Given the description of an element on the screen output the (x, y) to click on. 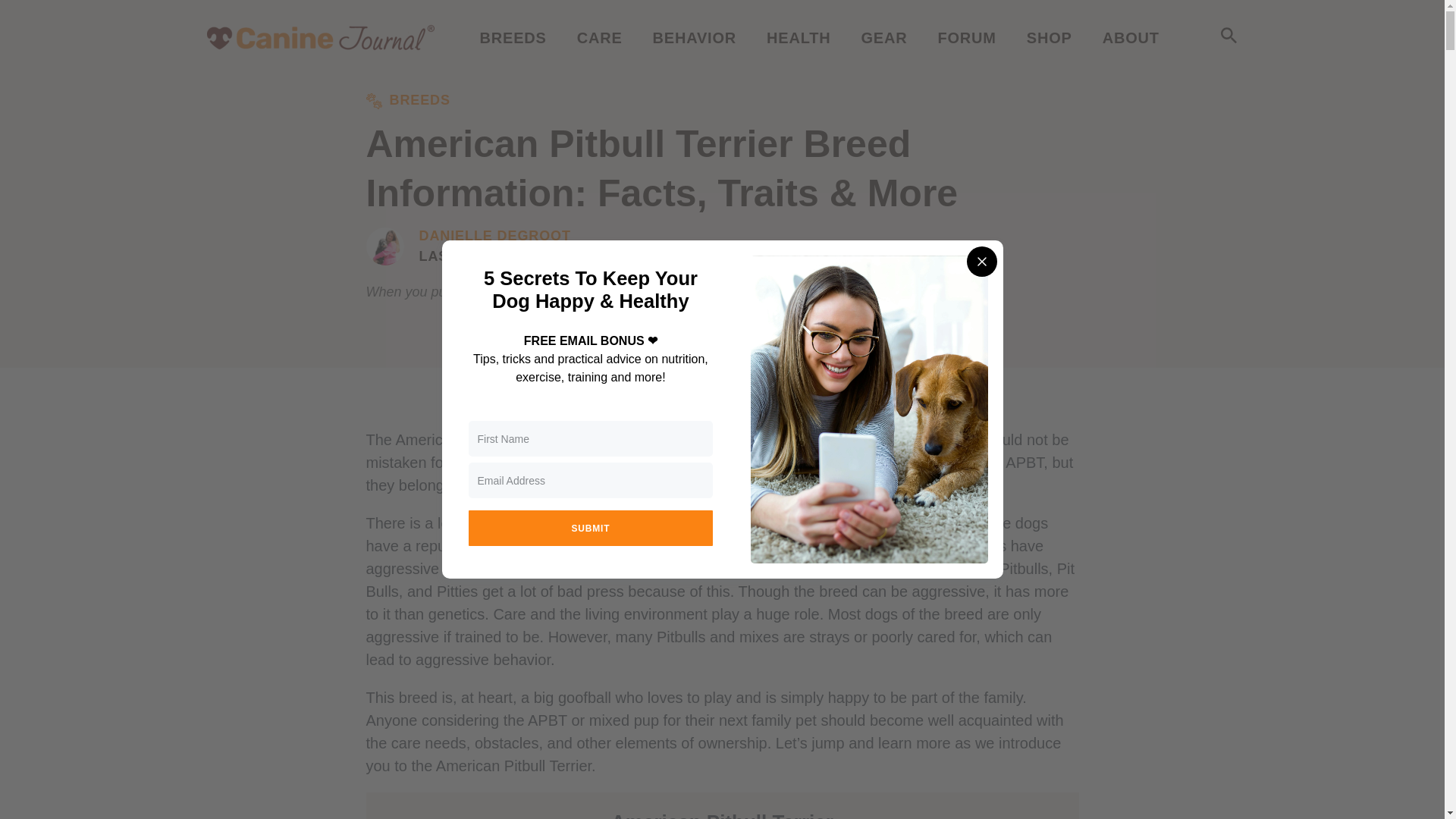
Share on Reddit (833, 397)
ABOUT (1130, 37)
Share on Print (586, 397)
FORUM (966, 37)
Posts by Danielle DeGroot (494, 236)
BREEDS (512, 37)
Share on Email (520, 397)
HEALTH (798, 37)
BEHAVIOR (694, 37)
Share on Pinterest (912, 397)
Share on Copy Link (663, 397)
Share on Facebook (752, 397)
